Given the description of an element on the screen output the (x, y) to click on. 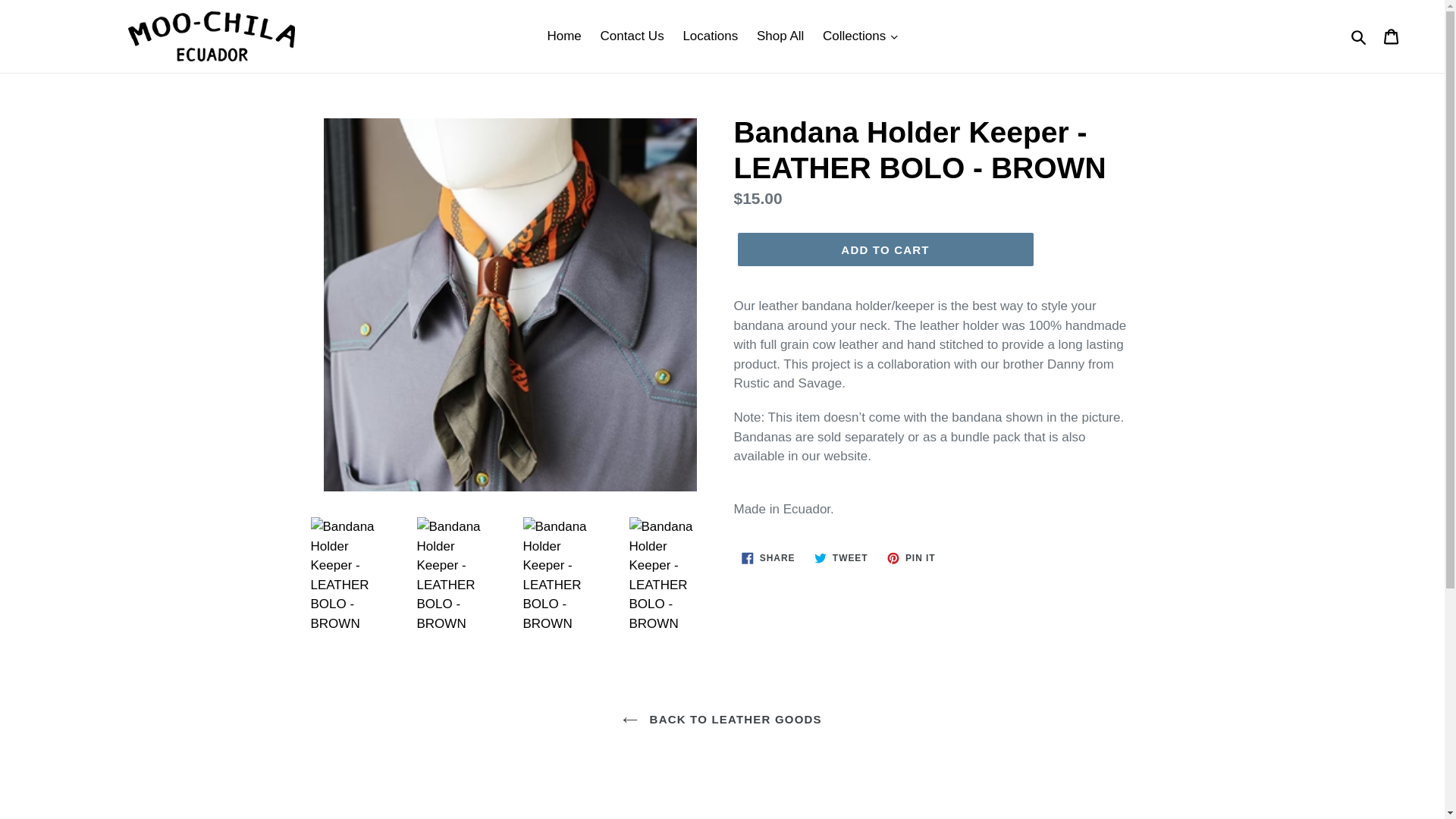
Cart (1392, 36)
Contact Us (631, 36)
Shop All (779, 36)
Submit (1358, 36)
Home (563, 36)
Locations (710, 36)
